Given the description of an element on the screen output the (x, y) to click on. 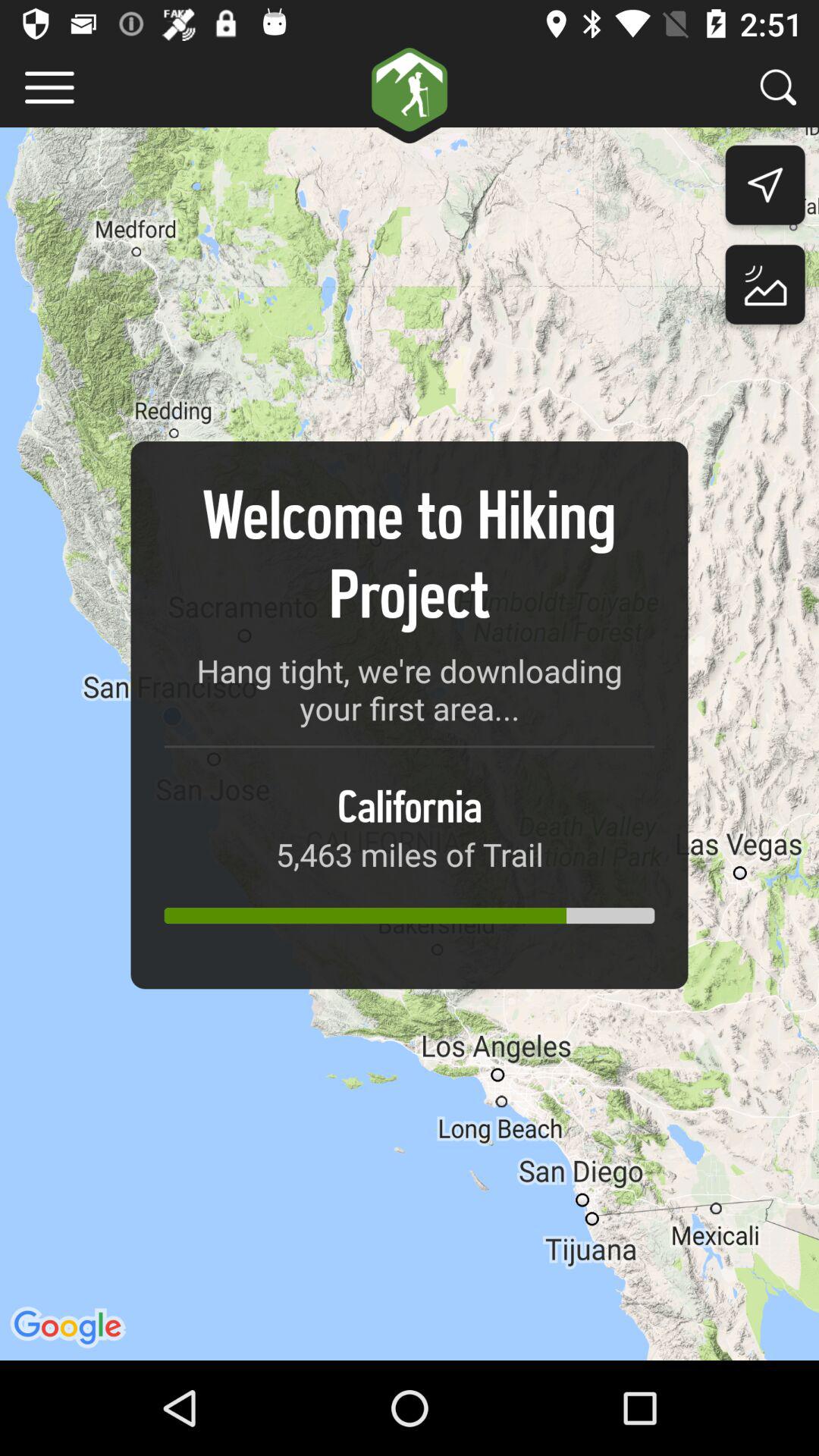
search (778, 87)
